Given the description of an element on the screen output the (x, y) to click on. 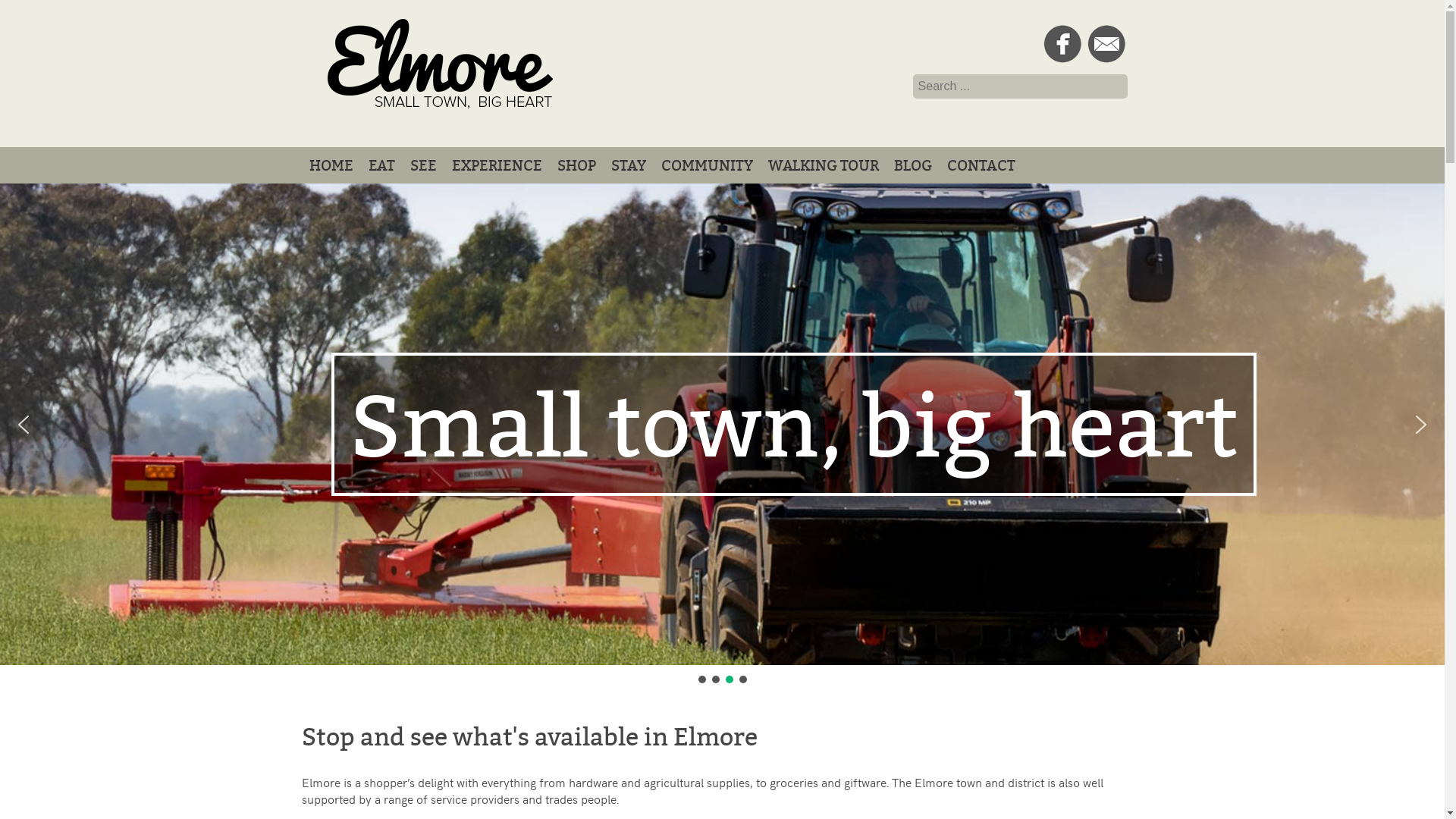
EAT Element type: text (381, 165)
CONTACT Element type: text (980, 165)
STAY Element type: text (628, 165)
EXPERIENCE Element type: text (496, 165)
HOME Element type: text (331, 165)
WALKING TOUR Element type: text (822, 165)
SEE Element type: text (422, 165)
COMMUNITY Element type: text (707, 165)
SHOP Element type: text (575, 165)
BLOG Element type: text (912, 165)
